Given the description of an element on the screen output the (x, y) to click on. 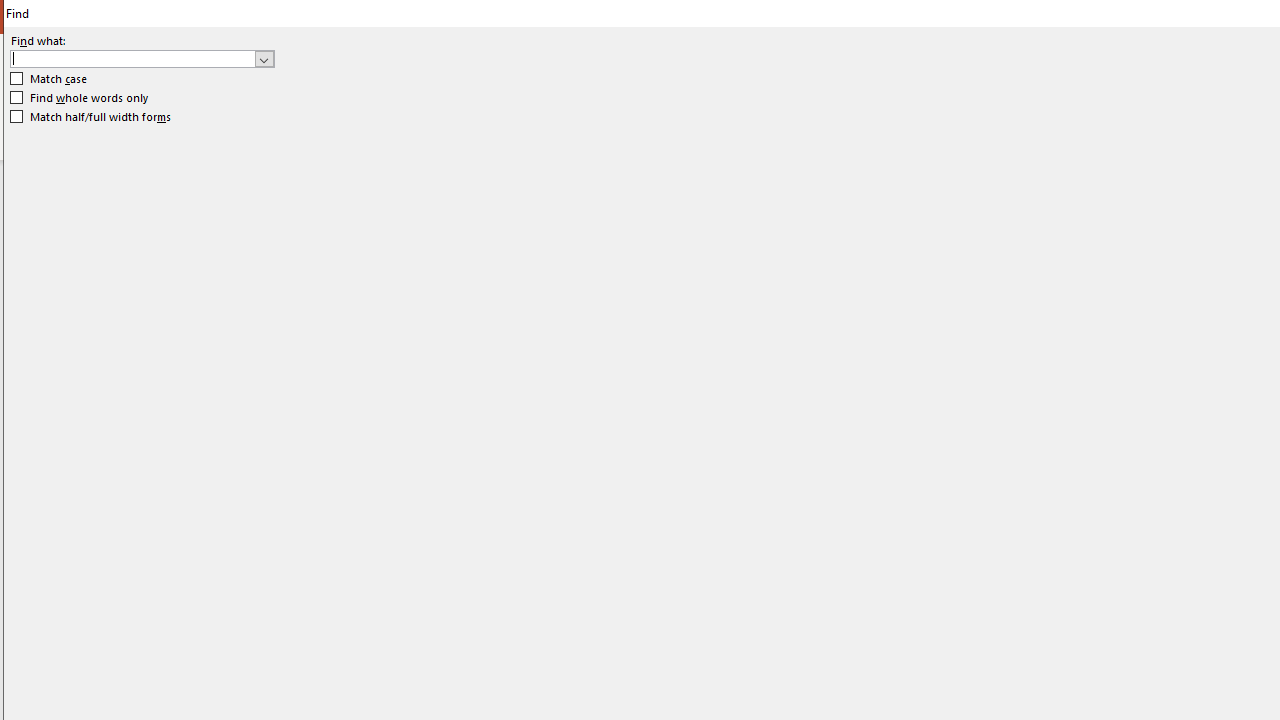
Find what (132, 58)
Match case (49, 79)
Find what (142, 58)
Match half/full width forms (91, 116)
Find whole words only (79, 97)
